Given the description of an element on the screen output the (x, y) to click on. 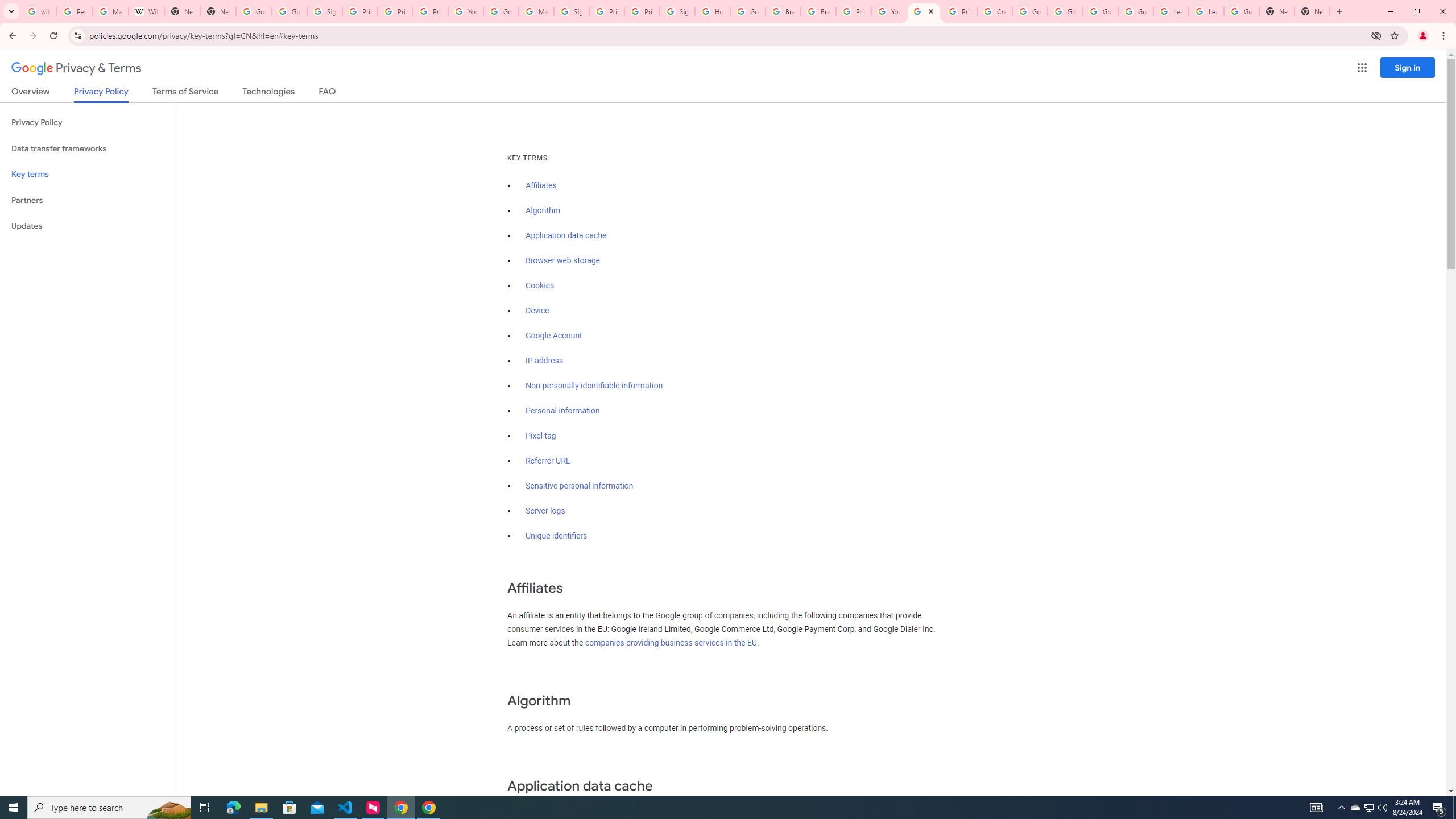
Sensitive personal information (579, 486)
Create your Google Account (994, 11)
Application data cache (566, 235)
Device (536, 311)
FAQ (327, 93)
Google Account (1240, 11)
Browser web storage (562, 260)
Personal information (562, 411)
Affiliates (540, 185)
New Tab (218, 11)
Google Account Help (1099, 11)
